Given the description of an element on the screen output the (x, y) to click on. 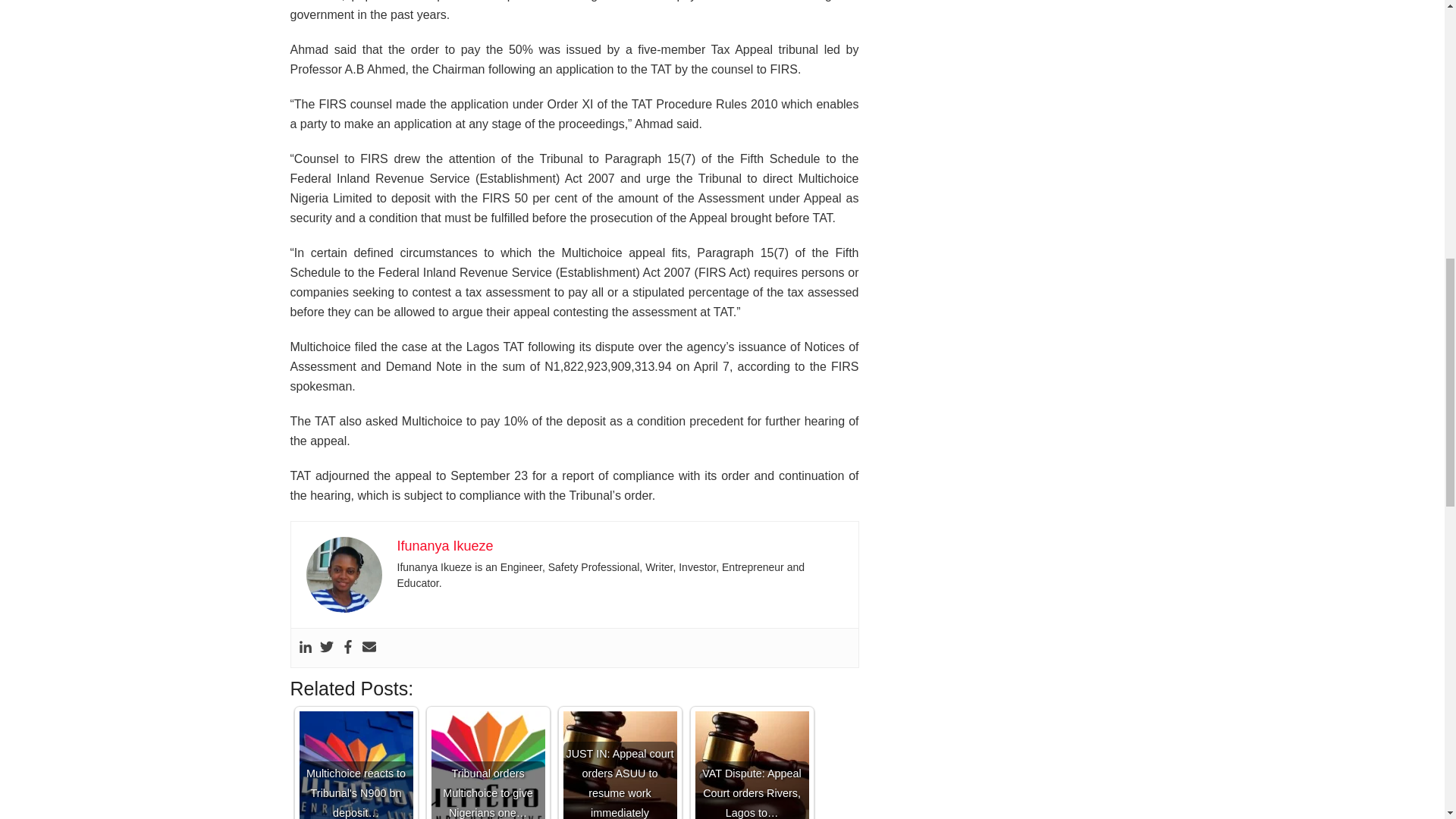
JUST IN: Appeal court orders ASUU to resume work immediately (619, 765)
